Given the description of an element on the screen output the (x, y) to click on. 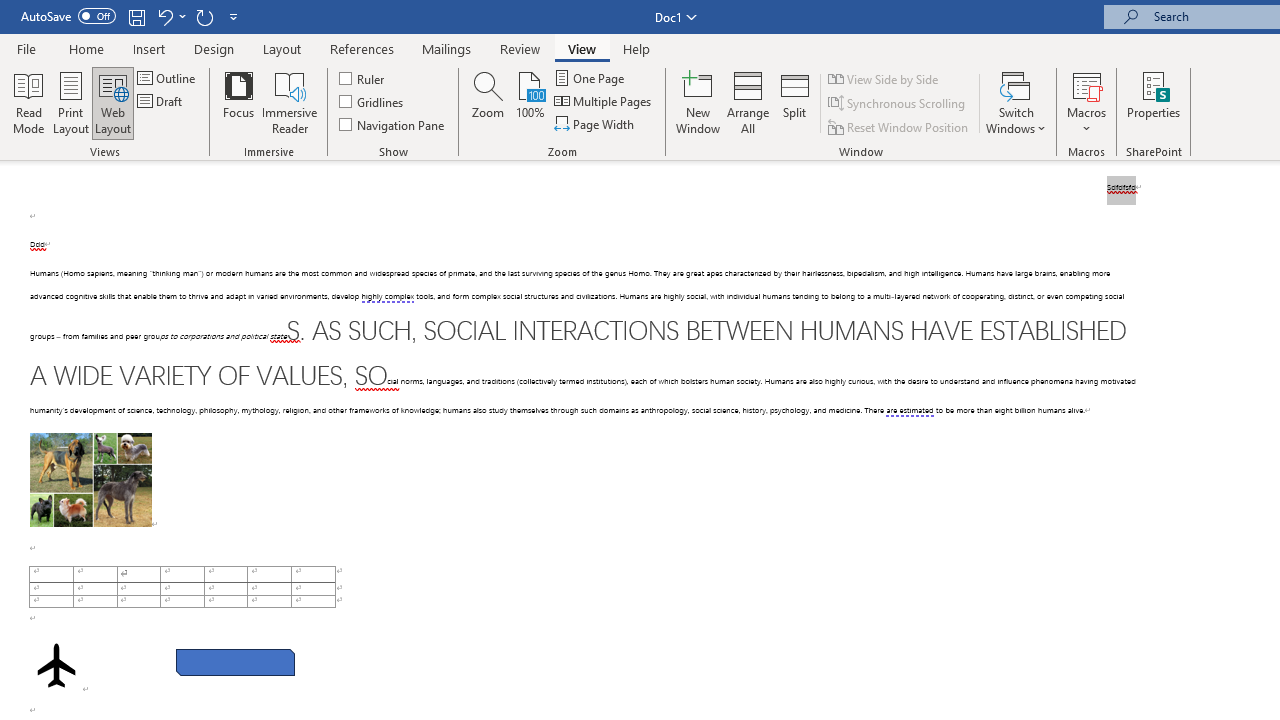
Navigation Pane (392, 124)
Macros (1086, 102)
View Side by Side (884, 78)
Draft (161, 101)
Switch Windows (1016, 102)
